Given the description of an element on the screen output the (x, y) to click on. 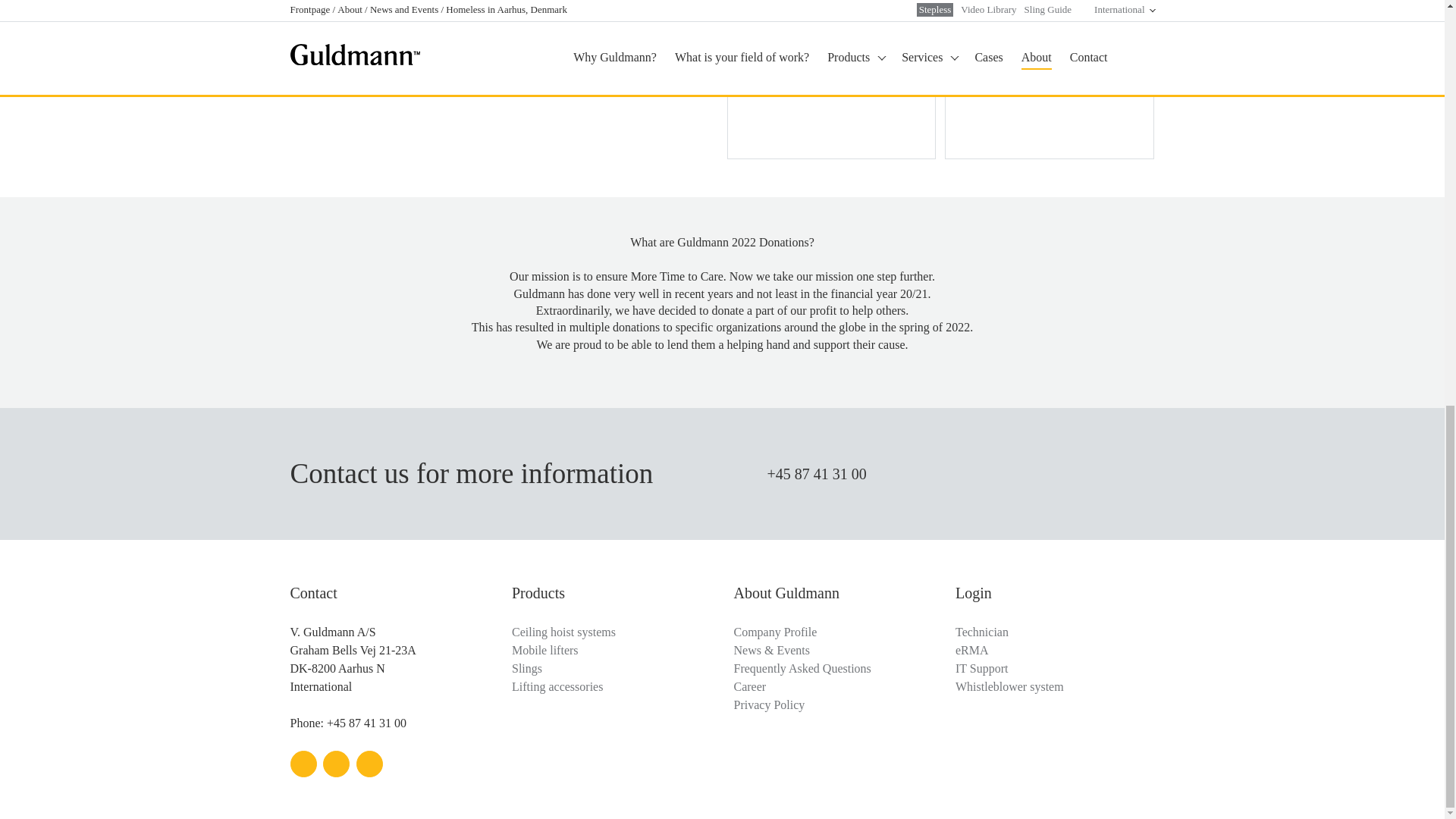
Social (336, 764)
Social (302, 764)
Social (369, 764)
